Given the description of an element on the screen output the (x, y) to click on. 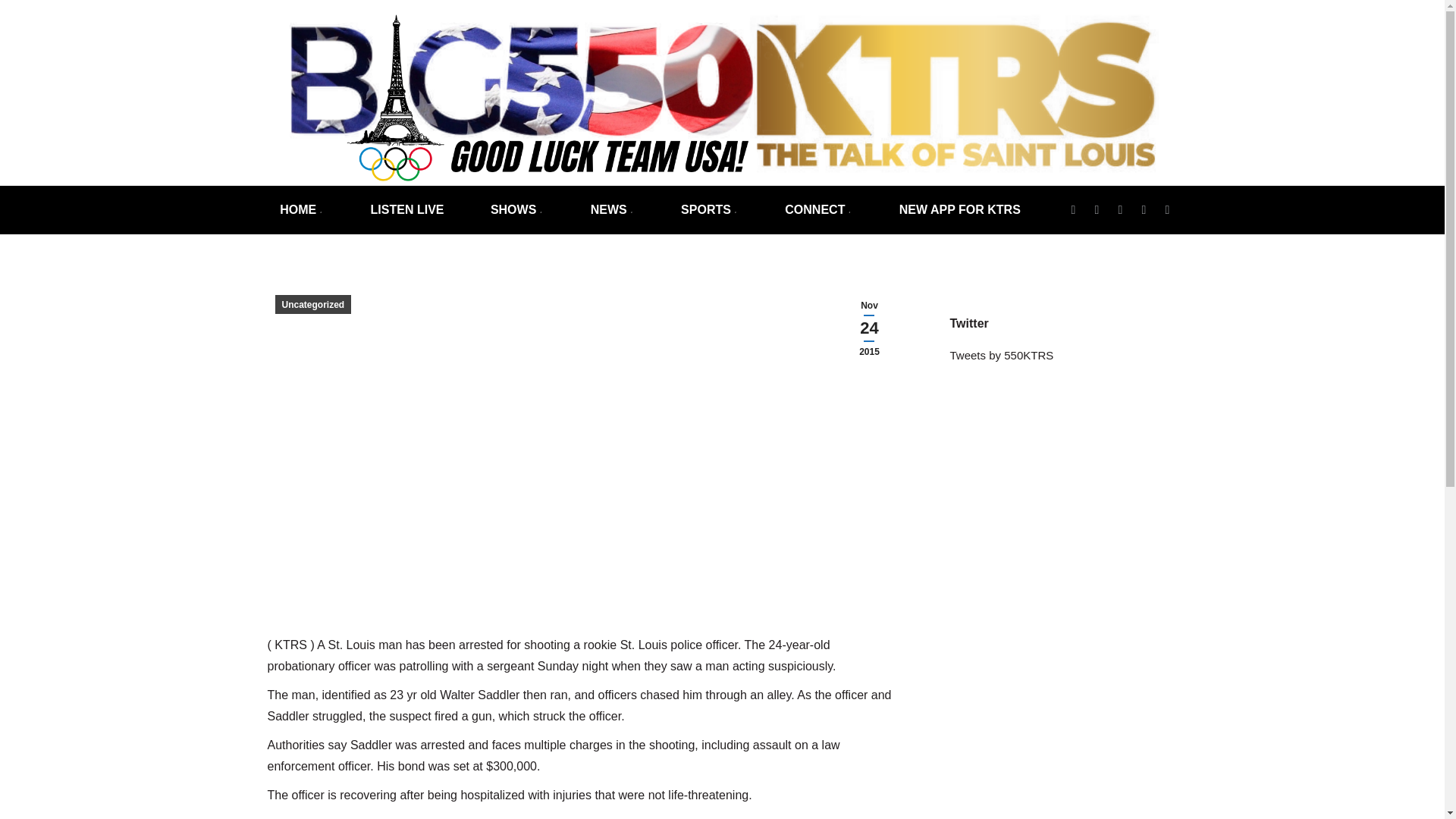
LISTEN LIVE (407, 209)
YouTube (1166, 209)
Facebook (1096, 209)
Instagram (1119, 209)
SHOWS (516, 209)
HOME (301, 209)
Twitter (1072, 209)
SoundCloud (1144, 209)
